Given the description of an element on the screen output the (x, y) to click on. 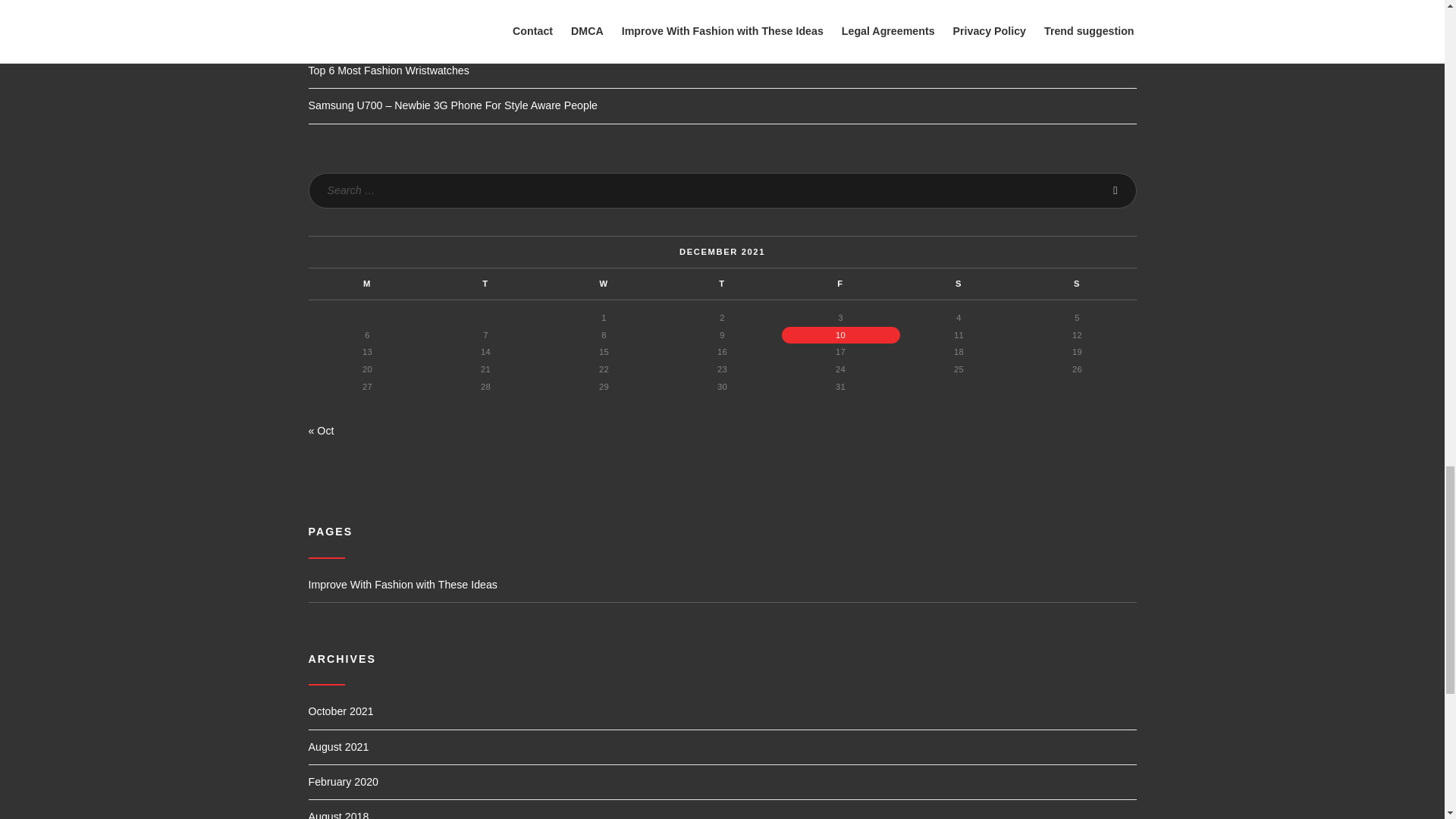
Improve With Fashion with These Ideas (721, 589)
Tuesday (485, 283)
Wednesday (603, 283)
August 2021 (337, 751)
Fashion Mantra For Full Figured Women (404, 35)
Why Ugg Boot Are Popular In The Style World (417, 2)
Saturday (958, 283)
Monday (366, 283)
October 2021 (339, 715)
Friday (839, 283)
February 2020 (342, 785)
Thursday (721, 283)
Top 6 Most Fashion Wristwatches (387, 70)
